Given the description of an element on the screen output the (x, y) to click on. 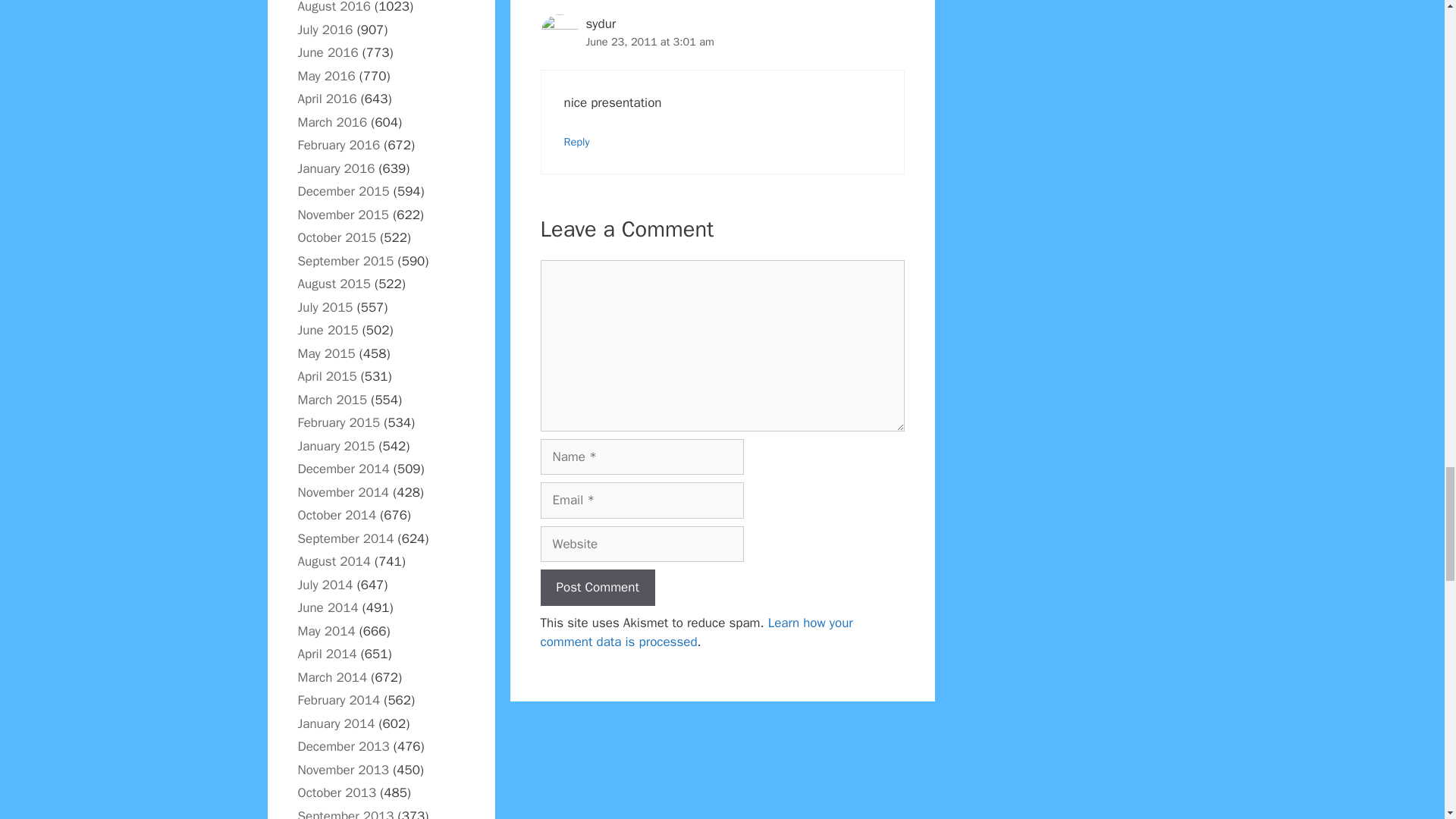
June 23, 2011 at 3:01 am (649, 41)
Reply (576, 141)
Post Comment (596, 587)
Learn how your comment data is processed (695, 632)
Post Comment (596, 587)
